Given the description of an element on the screen output the (x, y) to click on. 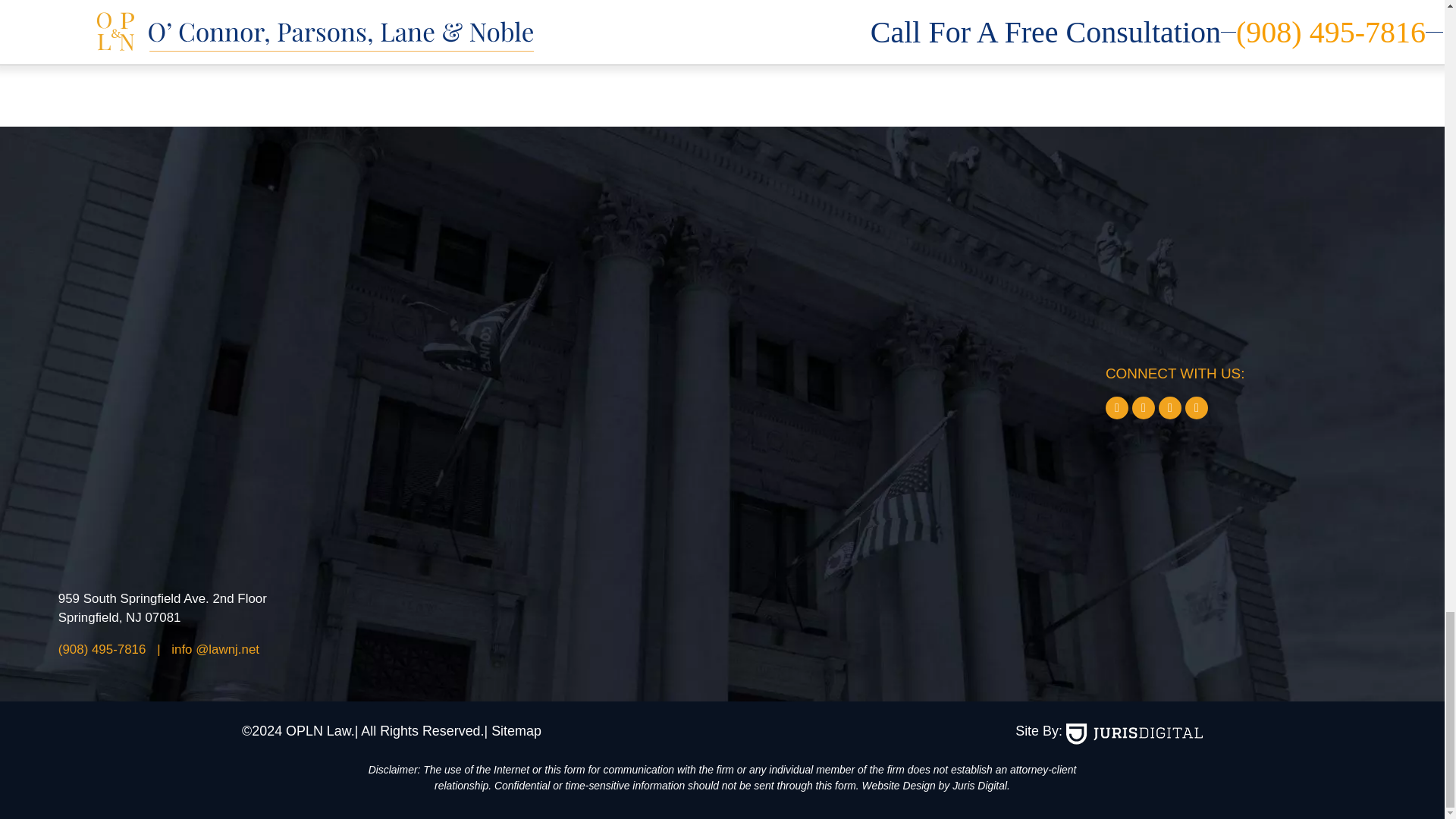
Email (215, 649)
5 Stars (360, 18)
OPLN Law's sitemap (512, 730)
Site by Juris Digital Law Firm Marketing (1133, 733)
